Given the description of an element on the screen output the (x, y) to click on. 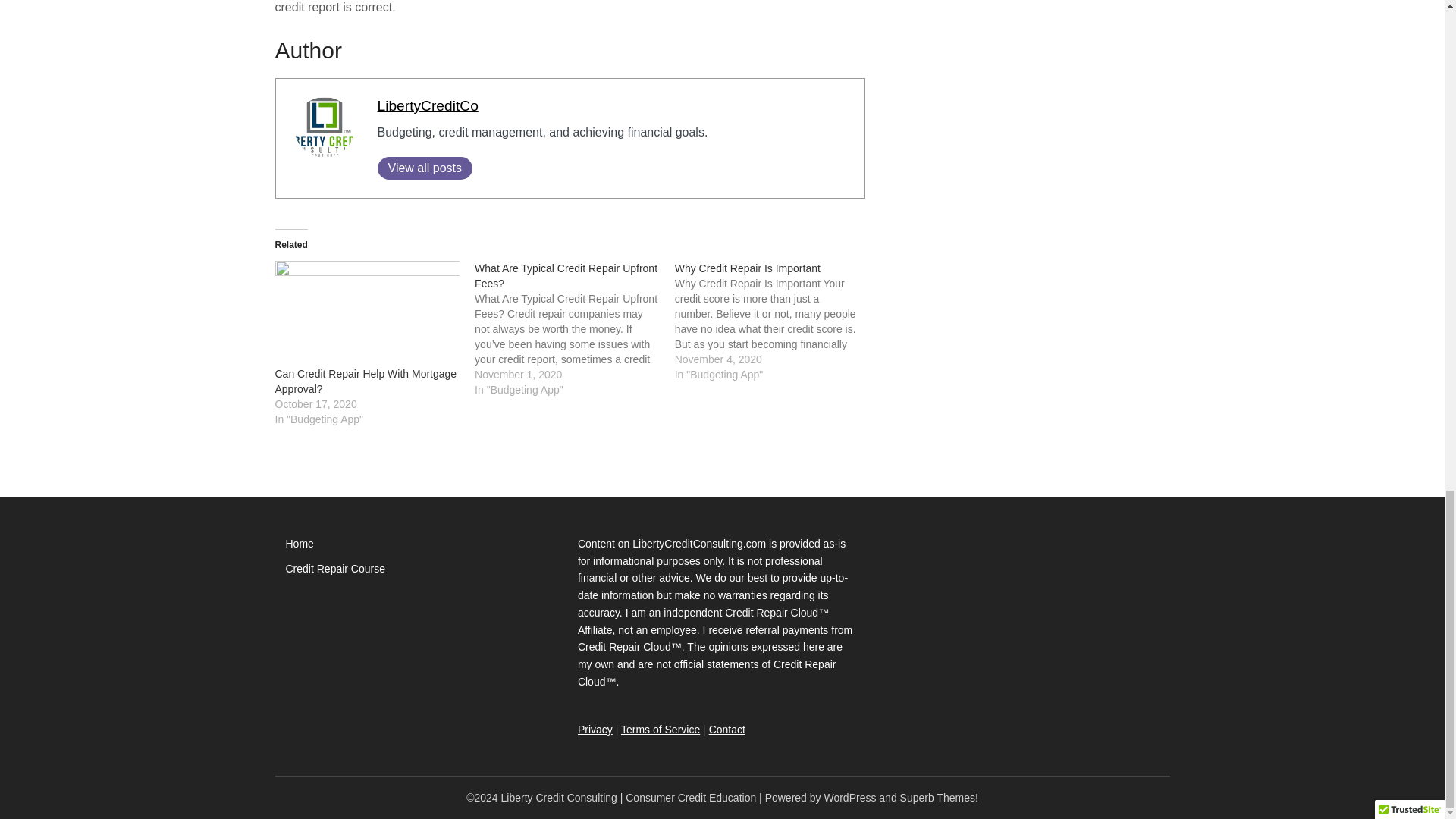
View all posts (425, 168)
Why Credit Repair Is Important (775, 321)
Can Credit Repair Help With Mortgage Approval? (366, 380)
Can Credit Repair Help With Mortgage Approval? (366, 380)
Why Credit Repair Is Important (748, 268)
Why Credit Repair Is Important (748, 268)
Can Credit Repair Help With Mortgage Approval? (367, 313)
What Are Typical Credit Repair Upfront Fees? (574, 329)
LibertyCreditCo (428, 105)
What Are Typical Credit Repair Upfront Fees? (566, 275)
LibertyCreditCo (428, 105)
What Are Typical Credit Repair Upfront Fees? (566, 275)
View all posts (425, 168)
